Given the description of an element on the screen output the (x, y) to click on. 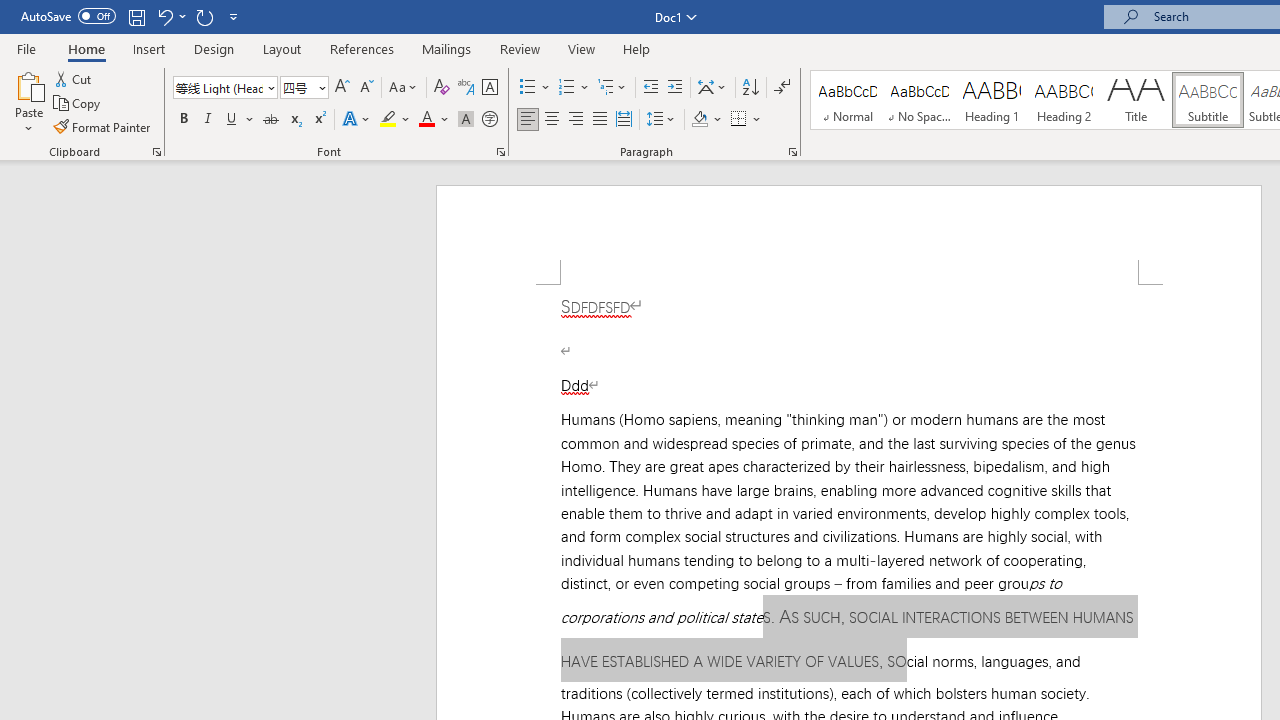
Customize Quick Access Toolbar (234, 15)
Paragraph... (792, 151)
AutoSave (68, 16)
Character Border (489, 87)
